Given the description of an element on the screen output the (x, y) to click on. 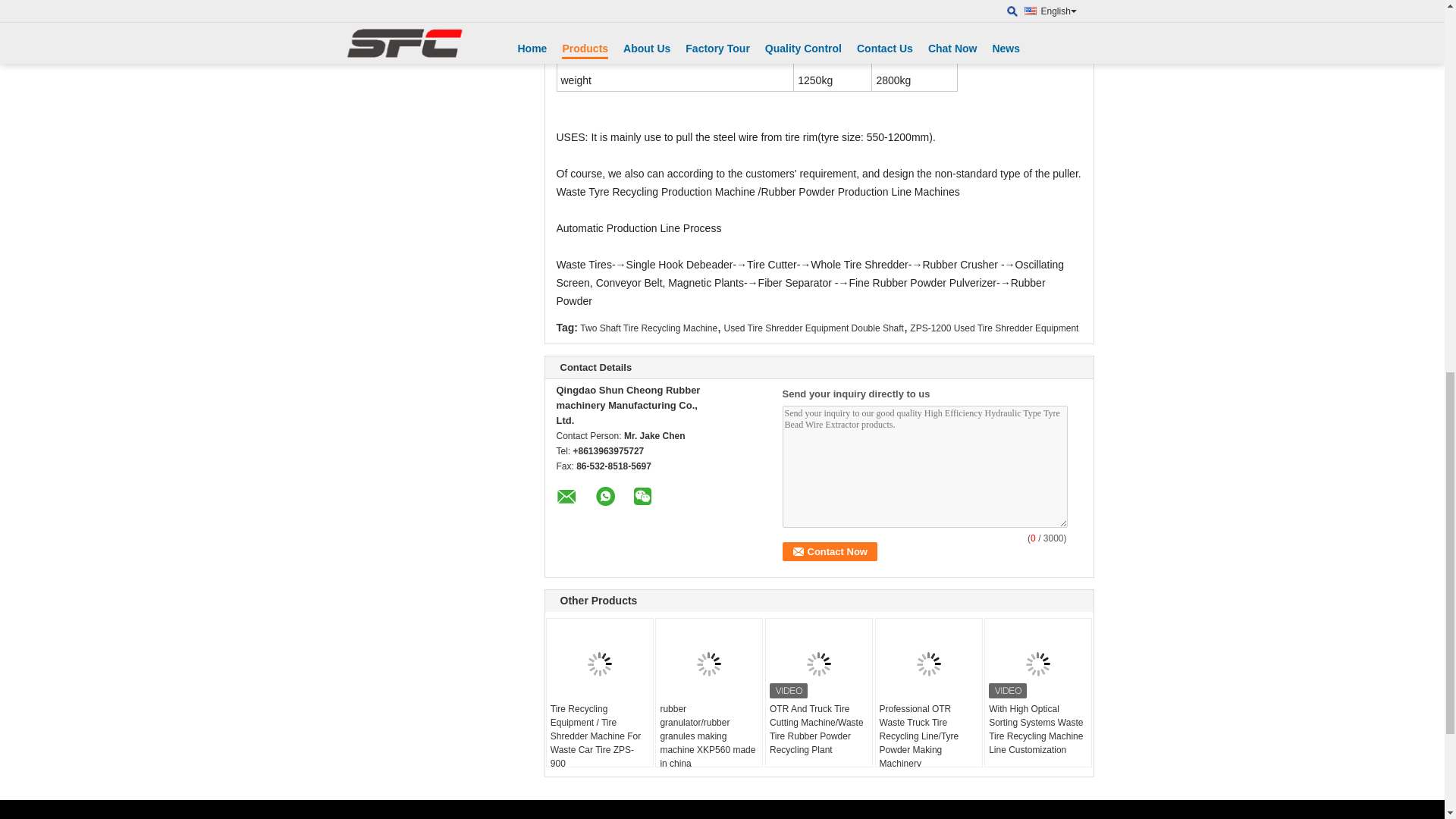
Contact Now (830, 551)
